Given the description of an element on the screen output the (x, y) to click on. 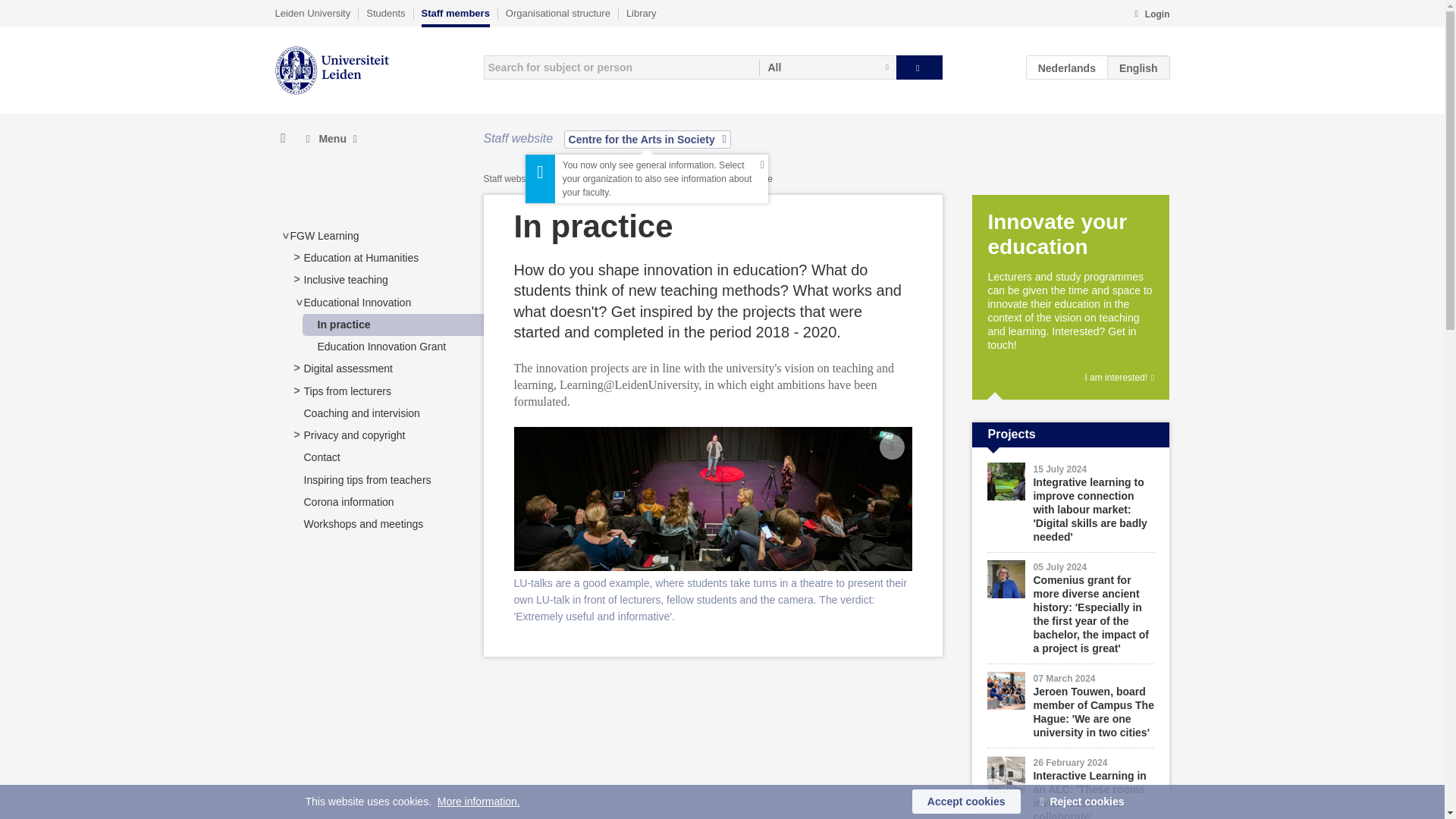
Menu (330, 139)
Library (641, 13)
FGW Learning (323, 235)
Organisational structure (557, 13)
Students (385, 13)
Inclusive teaching (344, 279)
Leiden University (312, 13)
Education at Humanities (360, 257)
Staff members (455, 17)
All (827, 67)
Centre for the Arts in Society (647, 139)
Search (919, 67)
Login (1151, 14)
NL (1067, 67)
